Given the description of an element on the screen output the (x, y) to click on. 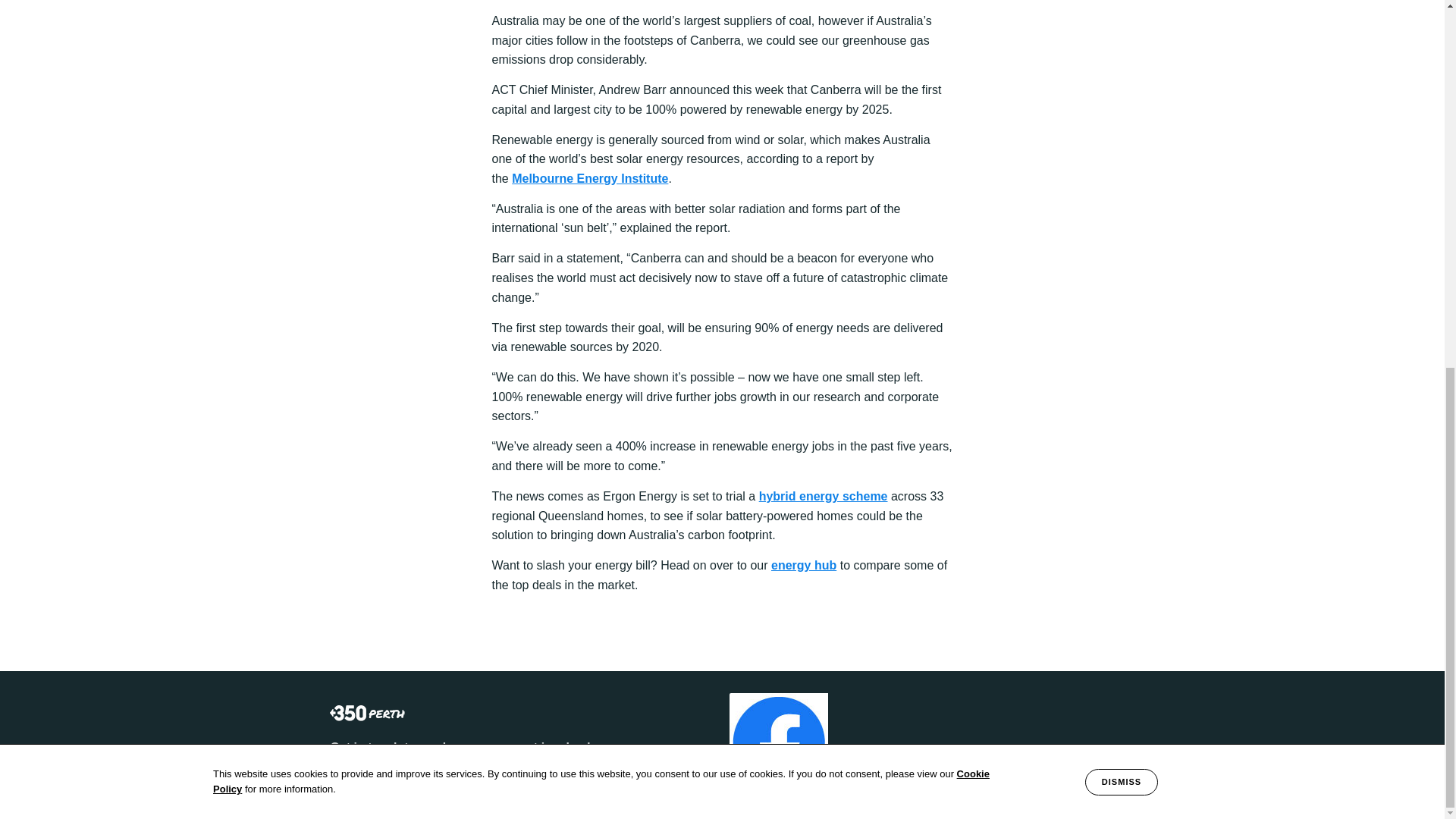
DISMISS (1120, 118)
Cookie Policy (601, 117)
Get in touch to see how you can get involved (459, 747)
Melbourne Energy Institute (590, 178)
hybrid energy scheme (823, 495)
energy hub (803, 564)
